Given the description of an element on the screen output the (x, y) to click on. 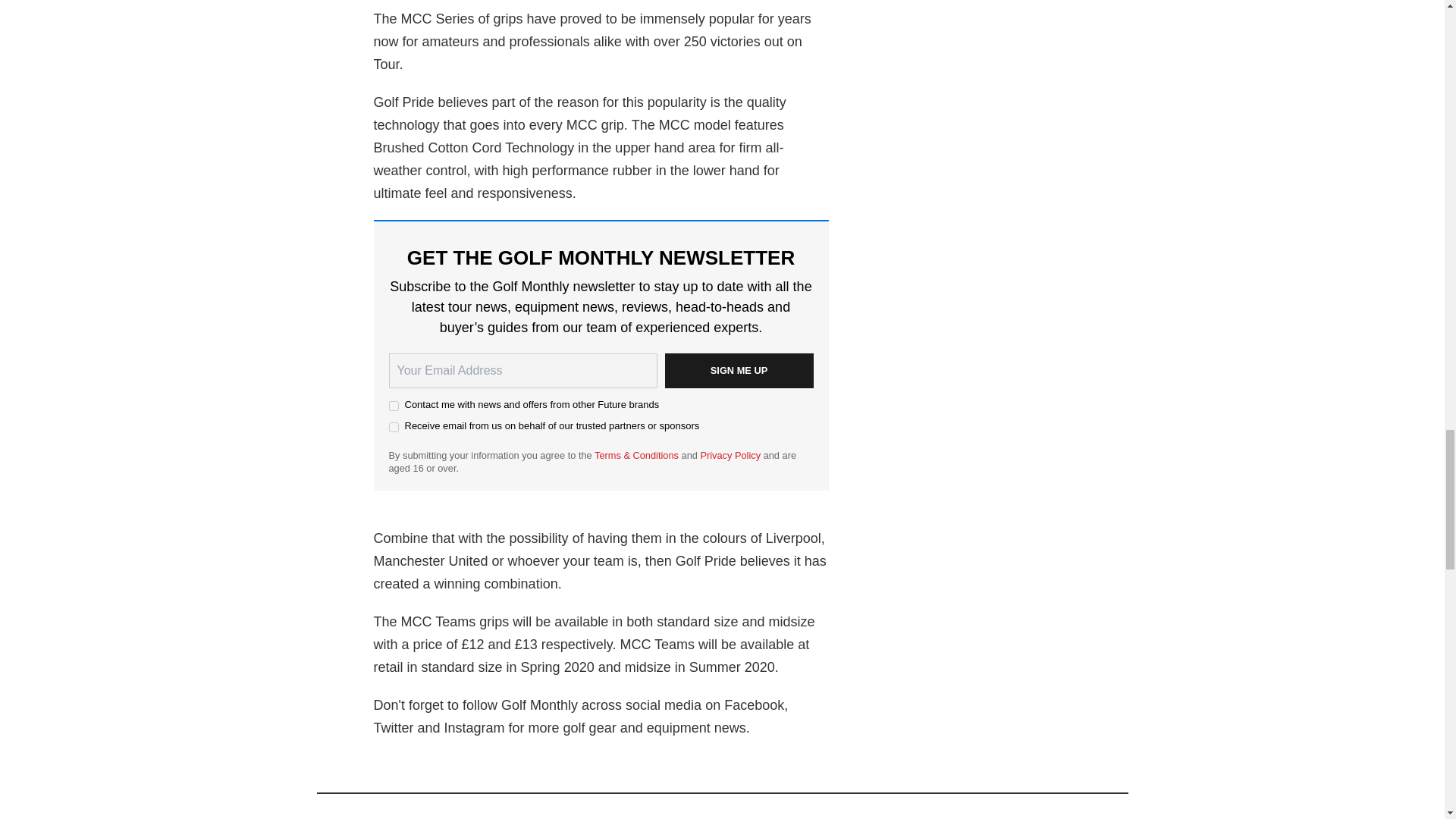
Sign me up (737, 370)
on (392, 427)
on (392, 406)
